Given the description of an element on the screen output the (x, y) to click on. 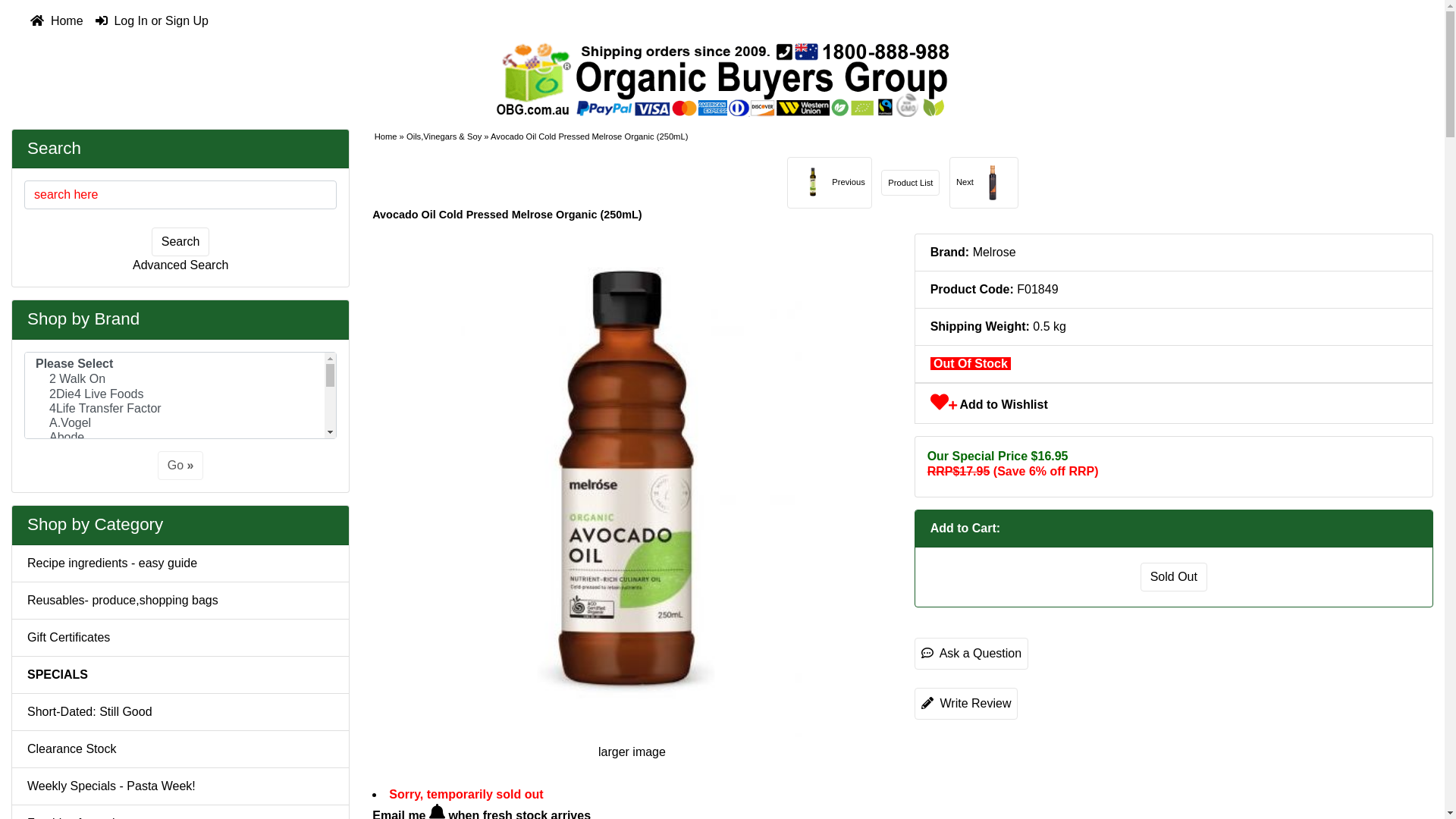
Reusables- produce,shopping bags Element type: text (180, 600)
Previous Element type: text (829, 182)
Clearance Stock Element type: text (180, 749)
Short-Dated: Still Good Element type: text (180, 712)
Gift Certificates Element type: text (180, 637)
Search Element type: text (54, 147)
Home Element type: text (385, 136)
Add to Wishlist Element type: text (989, 404)
Next Element type: text (983, 182)
Sold Out Element type: text (1173, 576)
Search Element type: text (180, 241)
 Write Review Element type: text (966, 703)
Avocado Oil Cold Pressed Every Bit Organic (250mL) Element type: hover (812, 182)
 Add this product to Wishlist/Favourites  Element type: hover (952, 406)
Shop by Category Element type: text (95, 523)
Weekly Specials - Pasta Week! Element type: text (180, 786)
 Log In or Sign Up Element type: text (151, 21)
Shop by Brand Element type: text (83, 318)
 Home Element type: text (56, 21)
Advanced Search Element type: text (180, 264)
Oils,Vinegars & Soy Element type: text (443, 136)
Avocado Oil Cold Pressed Melrose Organic (250mL) Element type: hover (631, 484)
 Add this product to Wishlist/Favourites  Element type: hover (939, 401)
larger image Element type: text (631, 617)
Recipe ingredients - easy guide Element type: text (180, 563)
Product List Element type: text (910, 182)
 Ask a Question Element type: text (971, 653)
